Given the description of an element on the screen output the (x, y) to click on. 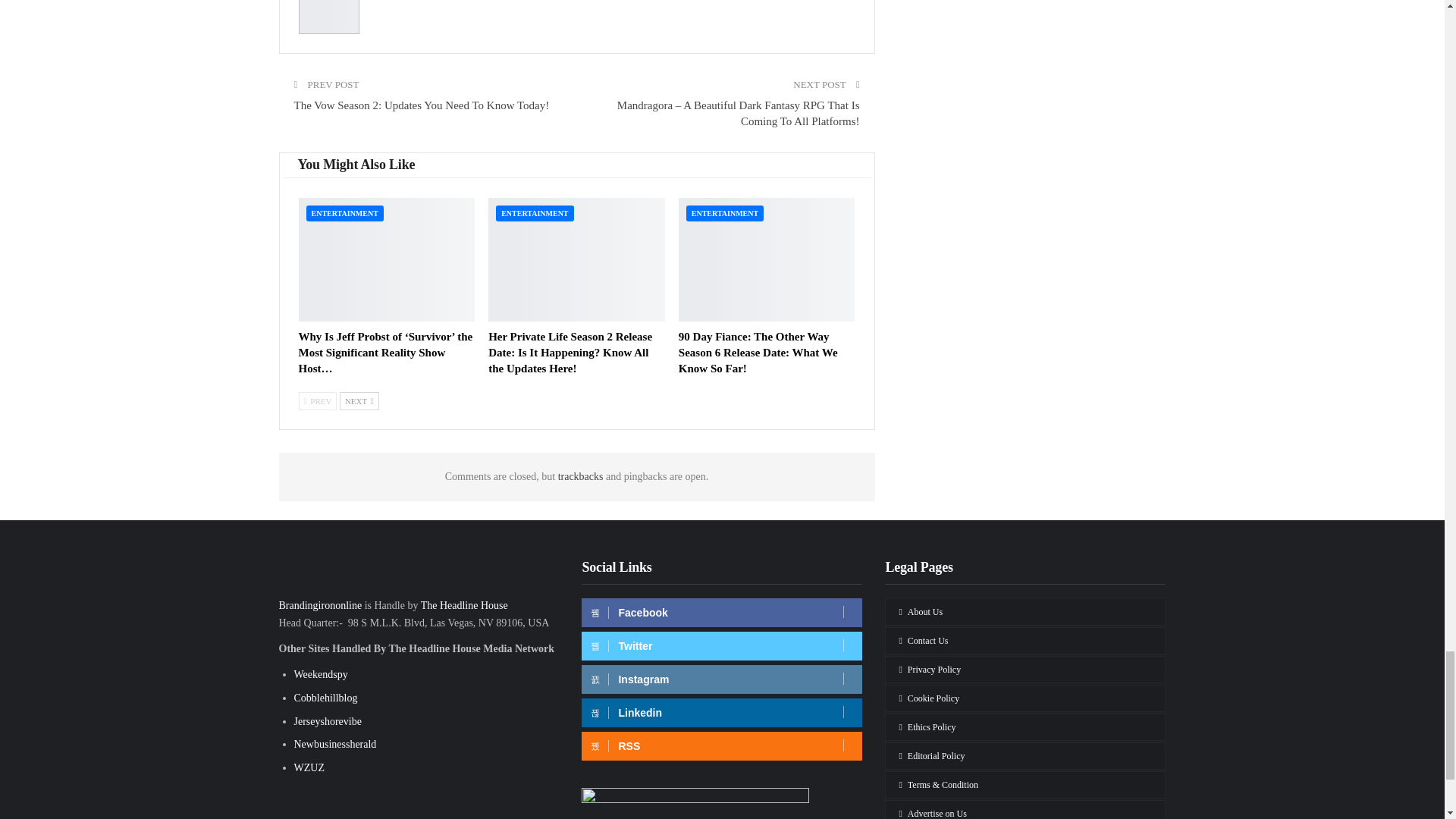
The Vow Season 2: Updates You Need To Know Today! (422, 105)
Previous (317, 401)
You Might Also Like (355, 164)
